Given the description of an element on the screen output the (x, y) to click on. 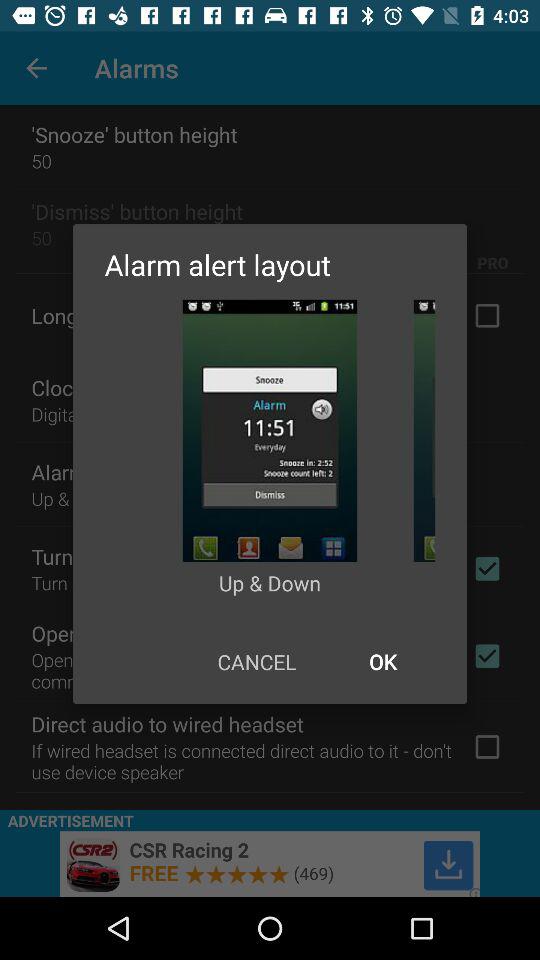
open the cancel (256, 661)
